Given the description of an element on the screen output the (x, y) to click on. 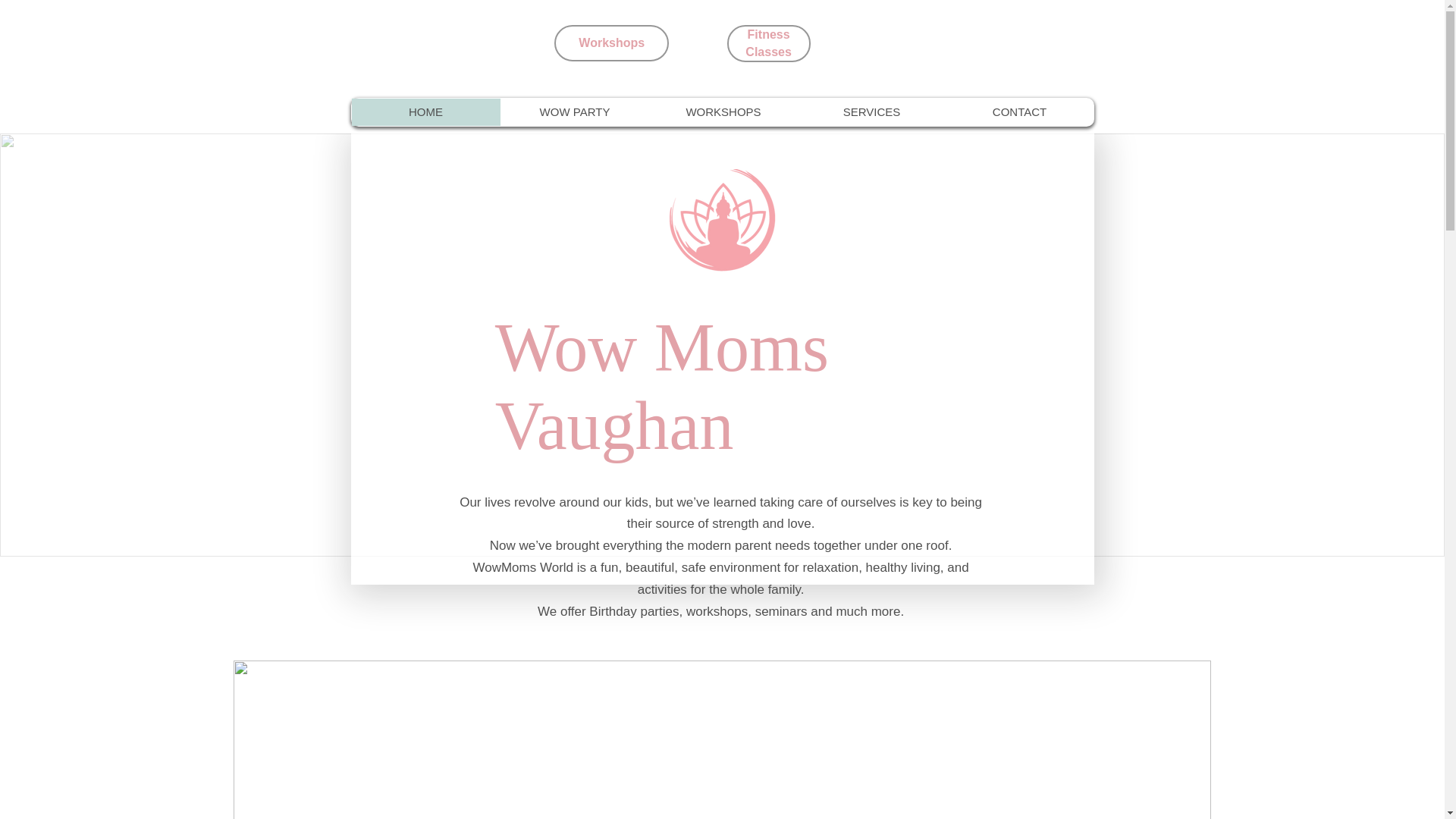
CONTACT (1018, 112)
WOW PARTY (574, 112)
Workshops (611, 43)
Fitness Classes (768, 43)
SERVICES (870, 112)
HOME (426, 112)
